Given the description of an element on the screen output the (x, y) to click on. 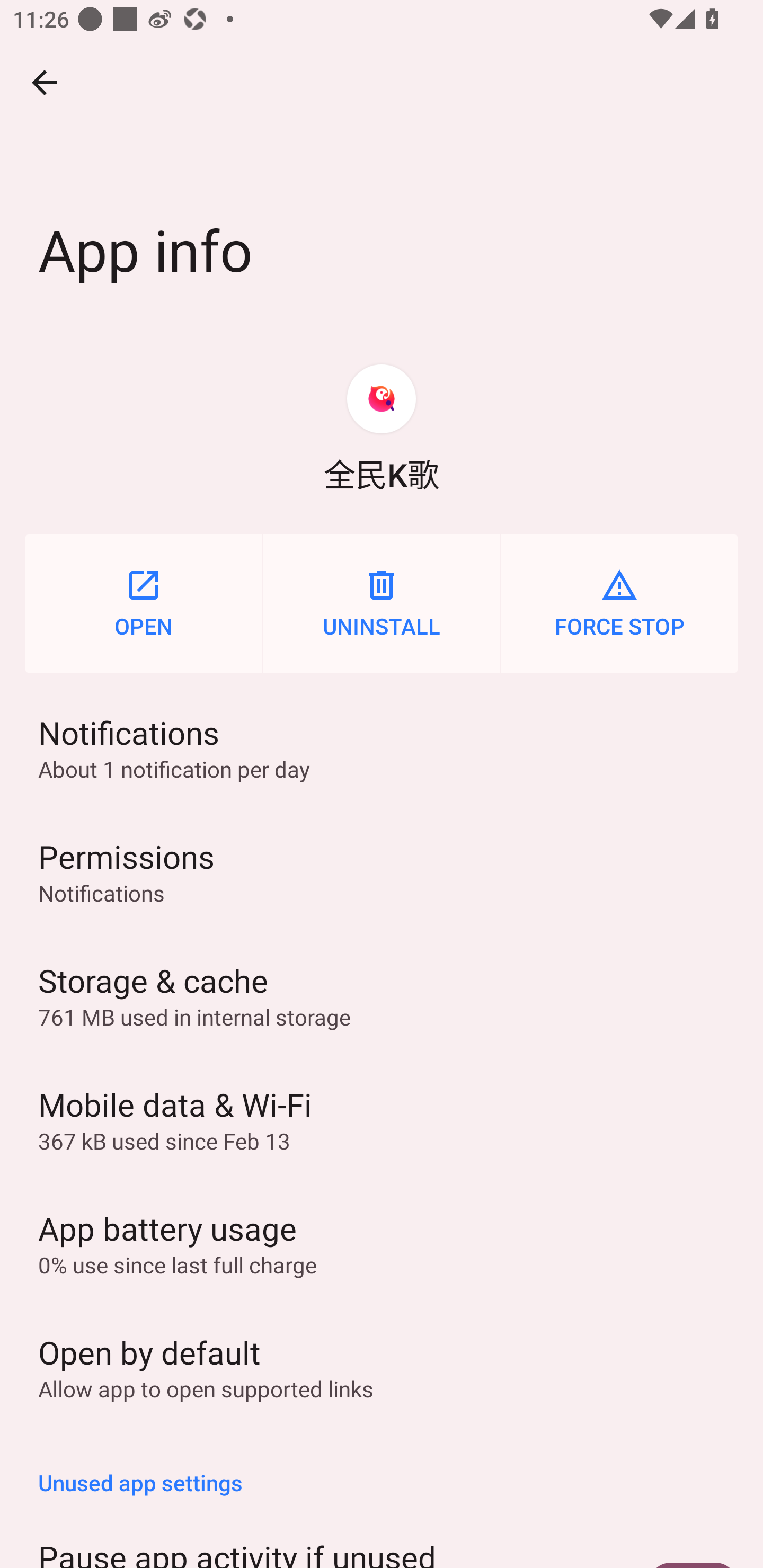
Navigate up (44, 82)
OPEN (143, 603)
UNINSTALL (381, 603)
FORCE STOP (619, 603)
Notifications About 1 notification per day (381, 747)
Permissions Notifications (381, 870)
Storage & cache 761 MB used in internal storage (381, 994)
Mobile data & Wi‑Fi 367 kB used since Feb 13 (381, 1118)
App battery usage 0% use since last full charge (381, 1242)
Open by default Allow app to open supported links (381, 1366)
